Given the description of an element on the screen output the (x, y) to click on. 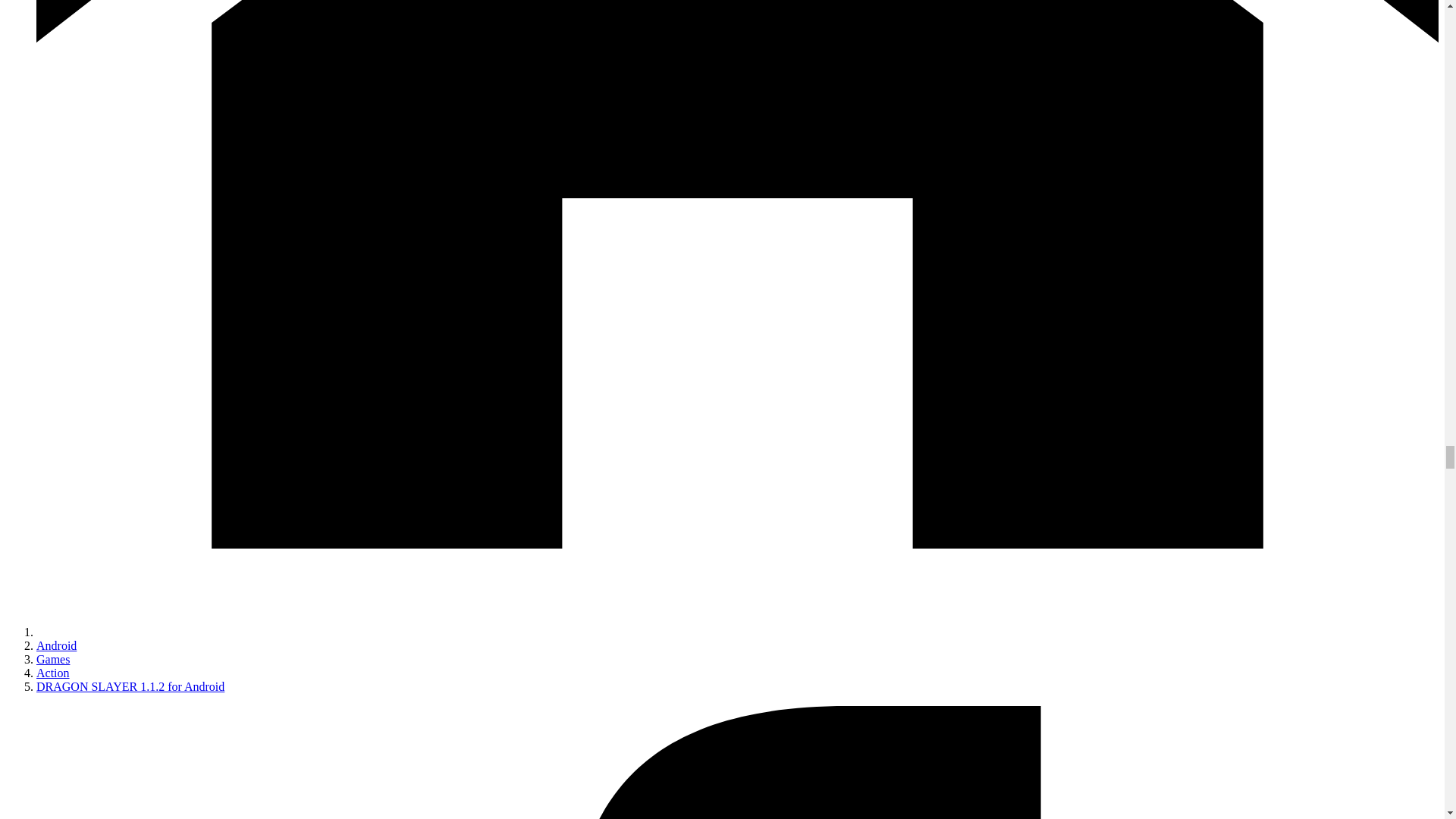
Android (56, 645)
DRAGON SLAYER 1.1.2 for Android (130, 686)
Action (52, 672)
Games (52, 658)
